Given the description of an element on the screen output the (x, y) to click on. 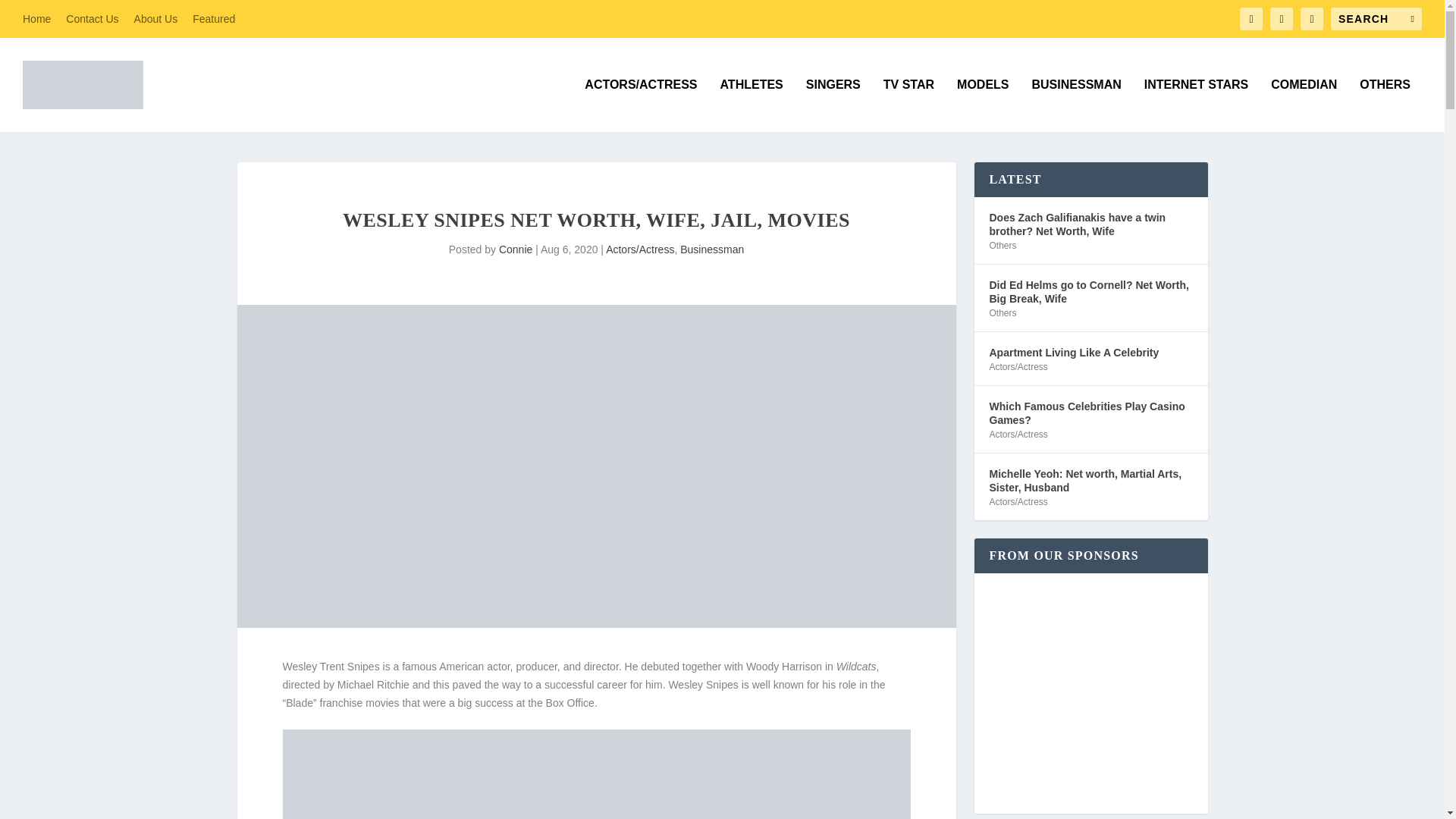
Contact Us (91, 18)
Featured (213, 18)
OTHERS (1384, 104)
COMEDIAN (1303, 104)
TV STAR (908, 104)
BUSINESSMAN (1075, 104)
Connie (515, 249)
ATHLETES (751, 104)
Businessman (711, 249)
MODELS (982, 104)
